Given the description of an element on the screen output the (x, y) to click on. 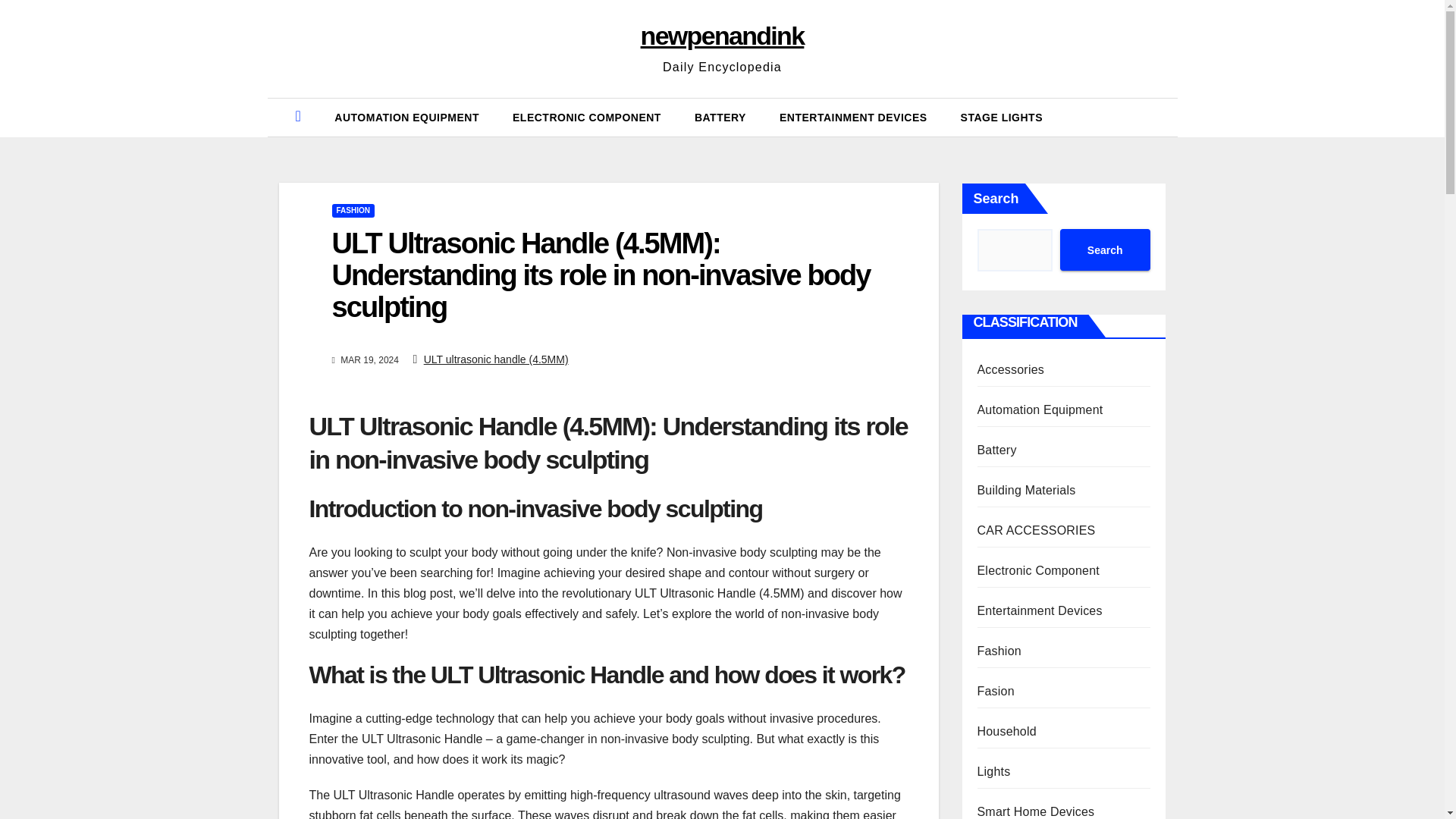
Entertainment Devices (852, 117)
Lights (993, 771)
Search (1104, 250)
Household (1005, 730)
Electronic Component (587, 117)
Electronic Component (1037, 570)
Entertainment Devices (1039, 610)
newpenandink (722, 35)
CAR ACCESSORIES (1035, 530)
Stage lights (1001, 117)
Fasion (994, 690)
Battery (720, 117)
Battery (996, 449)
BATTERY (720, 117)
STAGE LIGHTS (1001, 117)
